Given the description of an element on the screen output the (x, y) to click on. 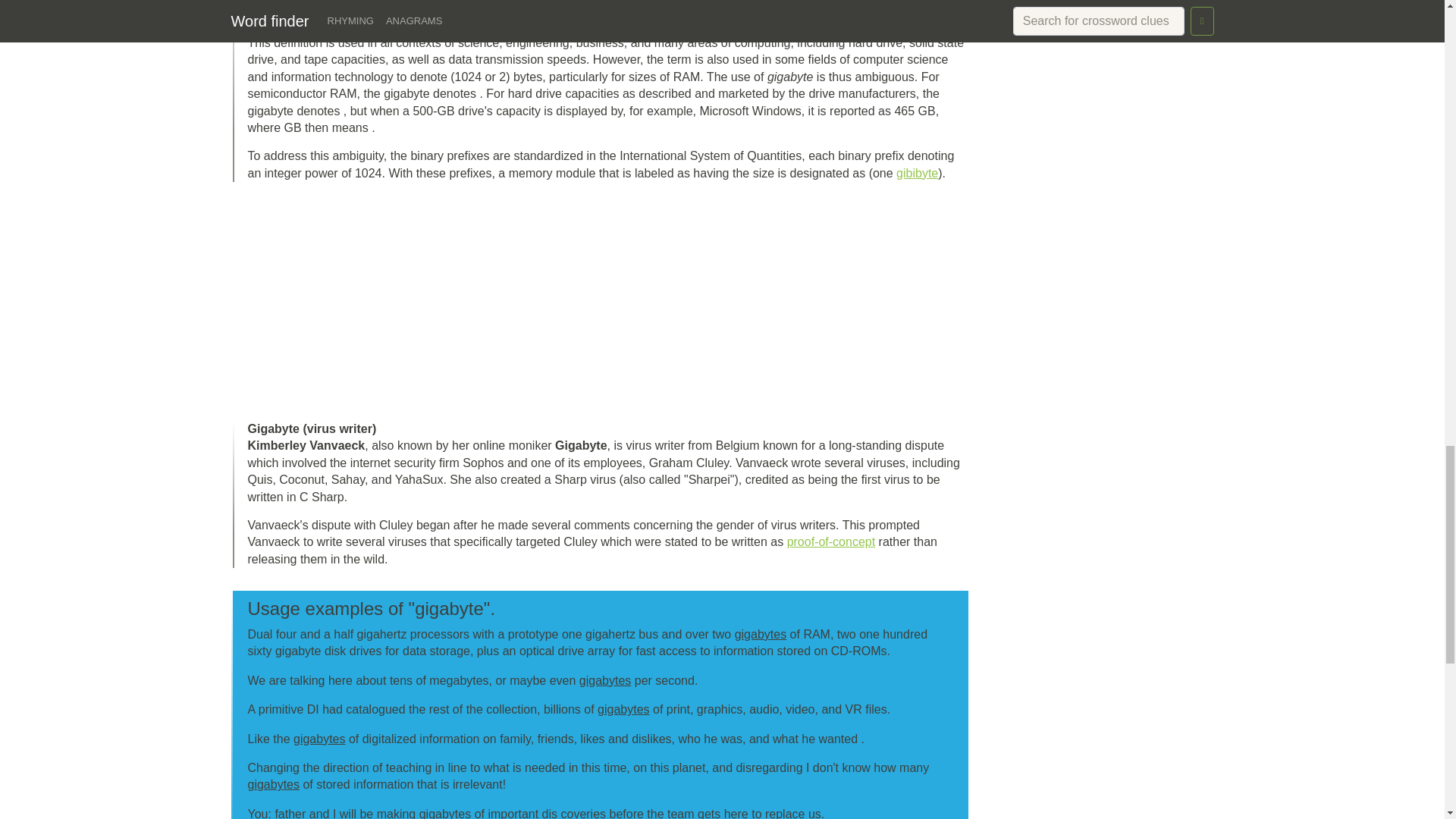
proof-of-concept (831, 541)
giga (692, 2)
byte (489, 2)
gibibyte (916, 173)
